Given the description of an element on the screen output the (x, y) to click on. 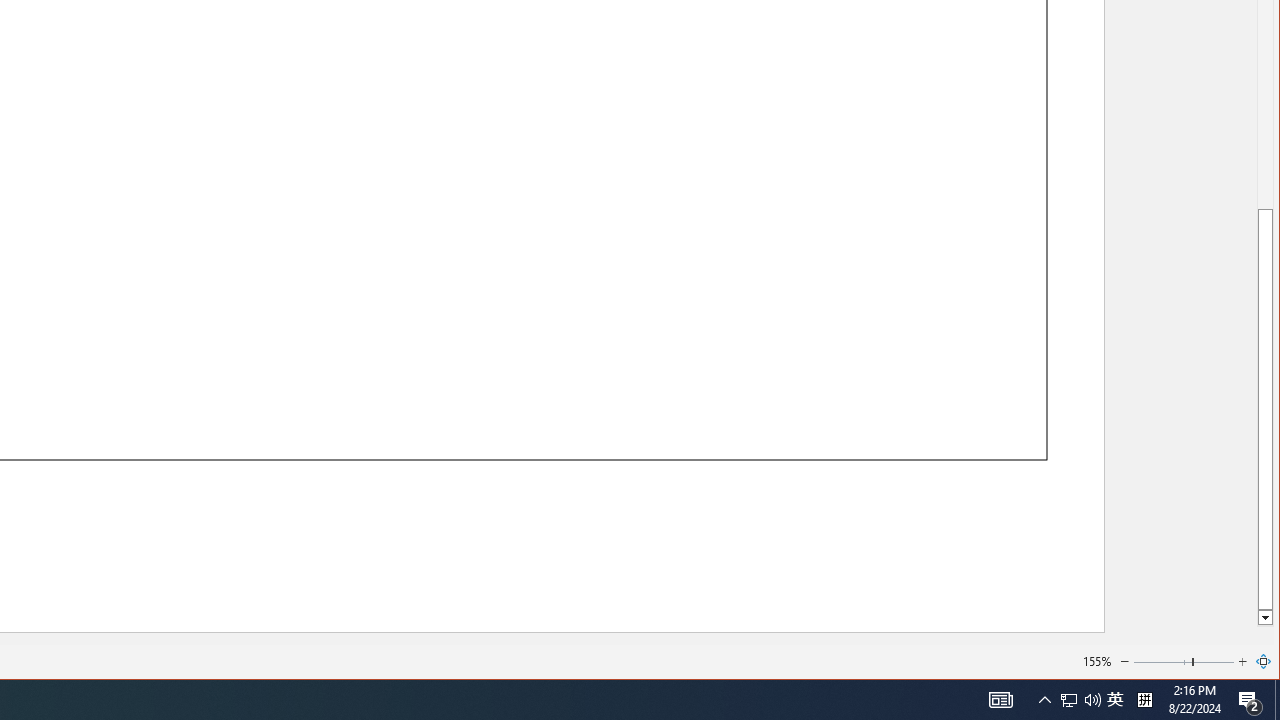
Zoom to Page (1263, 661)
Page left (1162, 661)
